Given the description of an element on the screen output the (x, y) to click on. 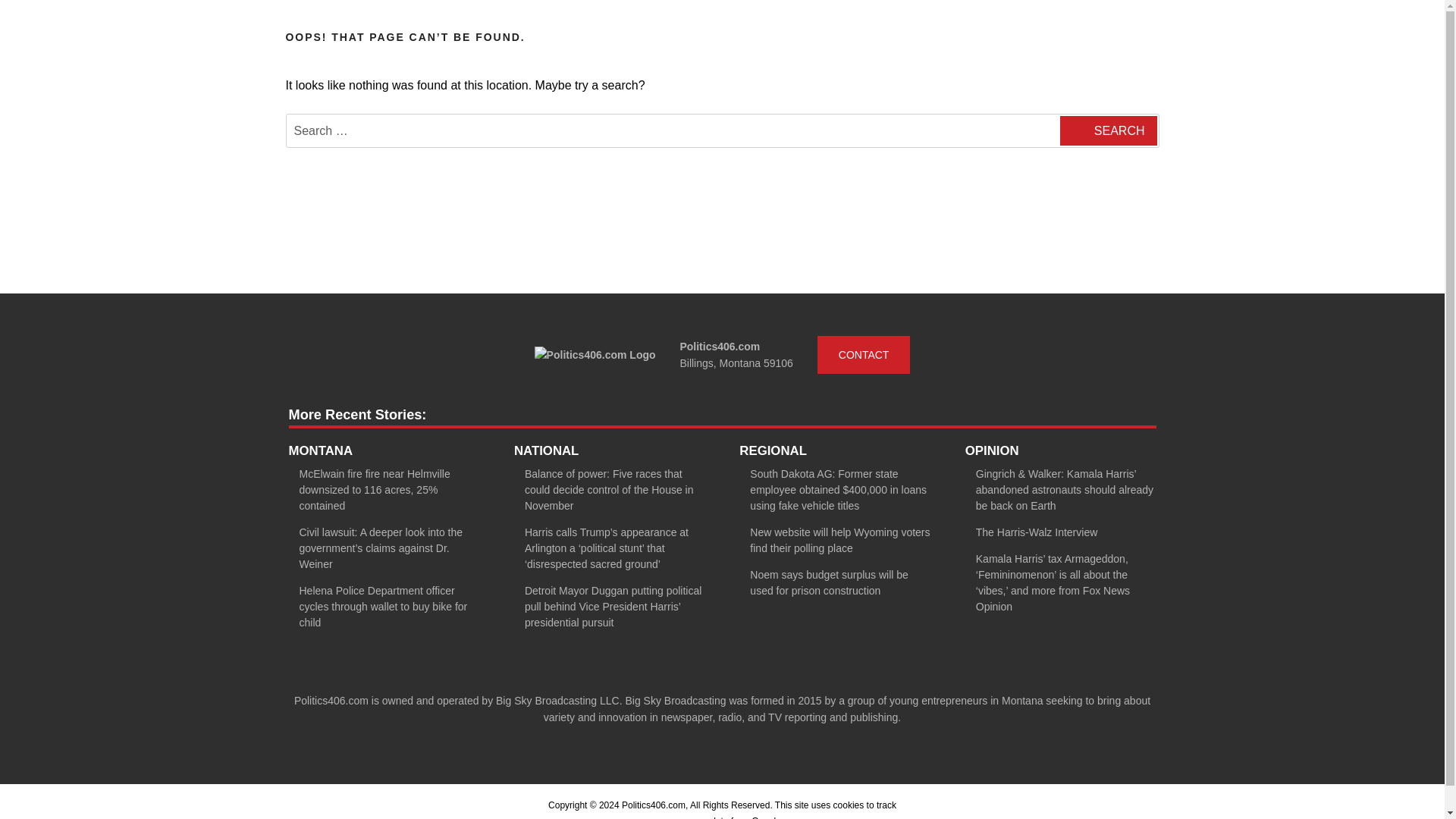
POLITICS406.COM (403, 16)
SEARCH (1107, 130)
The Harris-Walz Interview (1036, 532)
The Harris-Walz Interview (1036, 532)
CONTACT (863, 354)
